Given the description of an element on the screen output the (x, y) to click on. 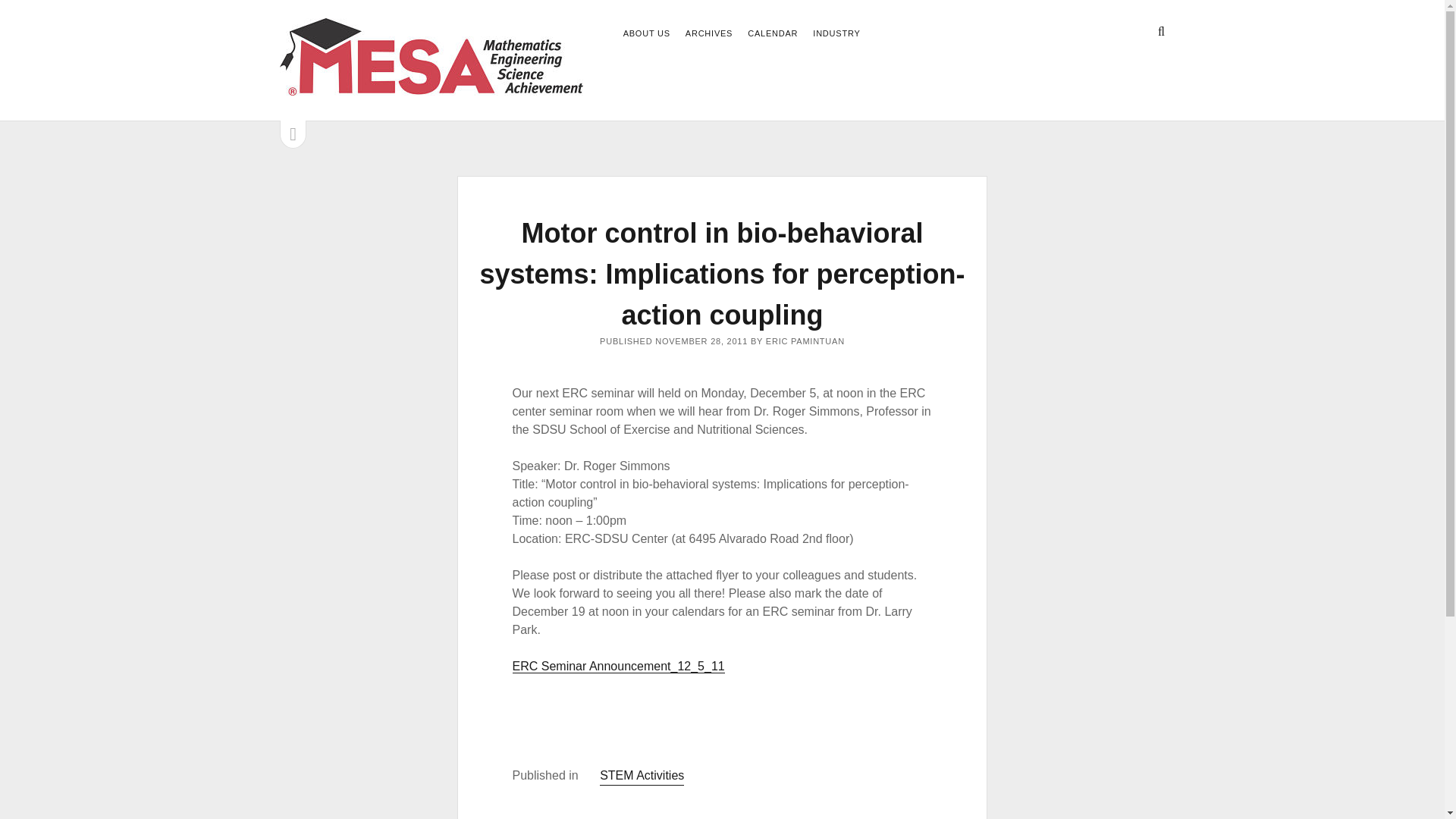
ABOUT US (646, 33)
CALENDAR (772, 33)
INDUSTRY (836, 33)
ARCHIVES (708, 33)
View all posts in STEM Activities (641, 775)
open sidebar (292, 134)
San Diego MESA Alliance (431, 88)
STEM Activities (641, 775)
